Given the description of an element on the screen output the (x, y) to click on. 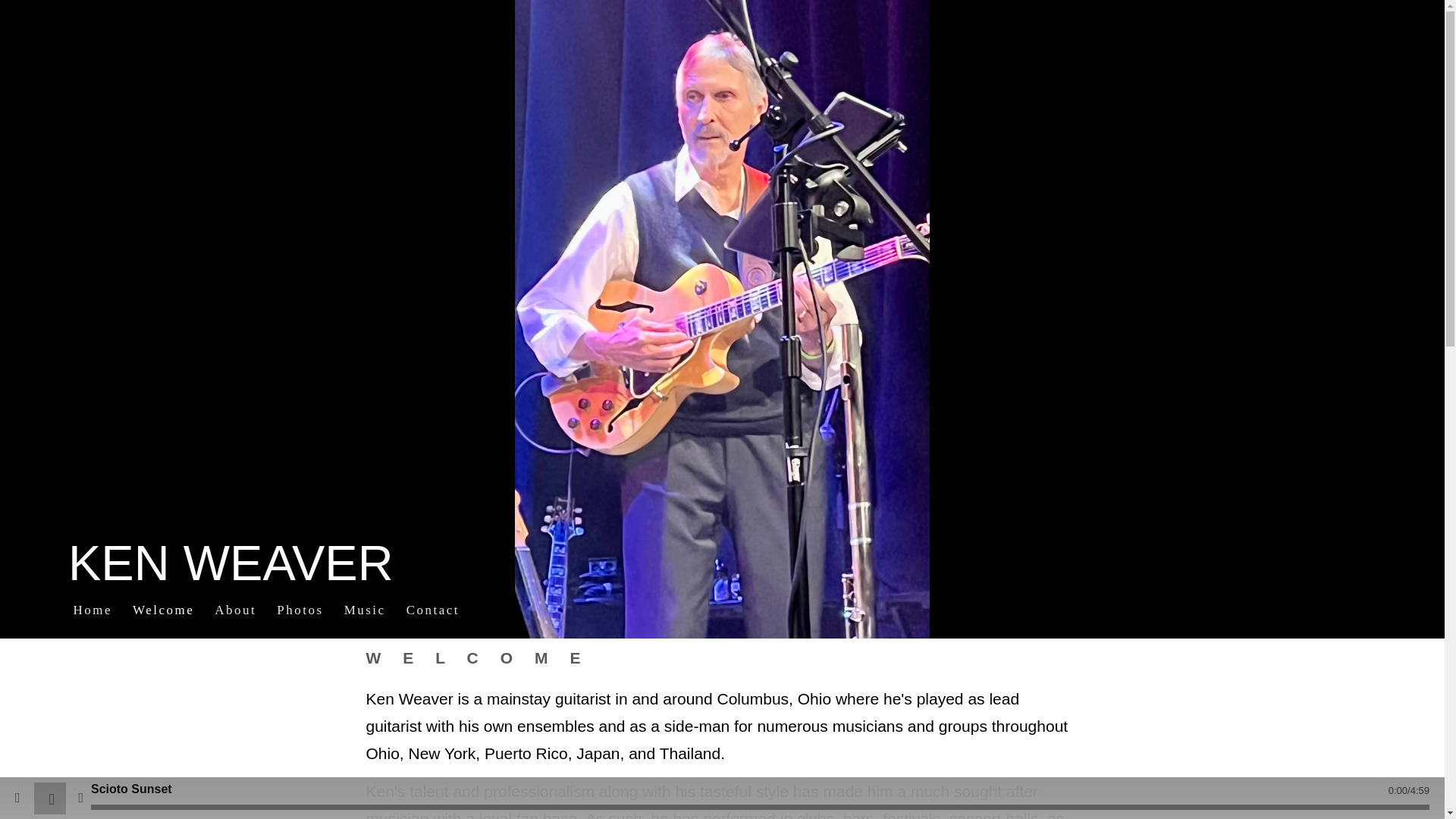
Home (92, 610)
KEN WEAVER (230, 572)
About (235, 610)
Music (364, 610)
Contact (431, 610)
Welcome (163, 610)
Photos (300, 610)
